Given the description of an element on the screen output the (x, y) to click on. 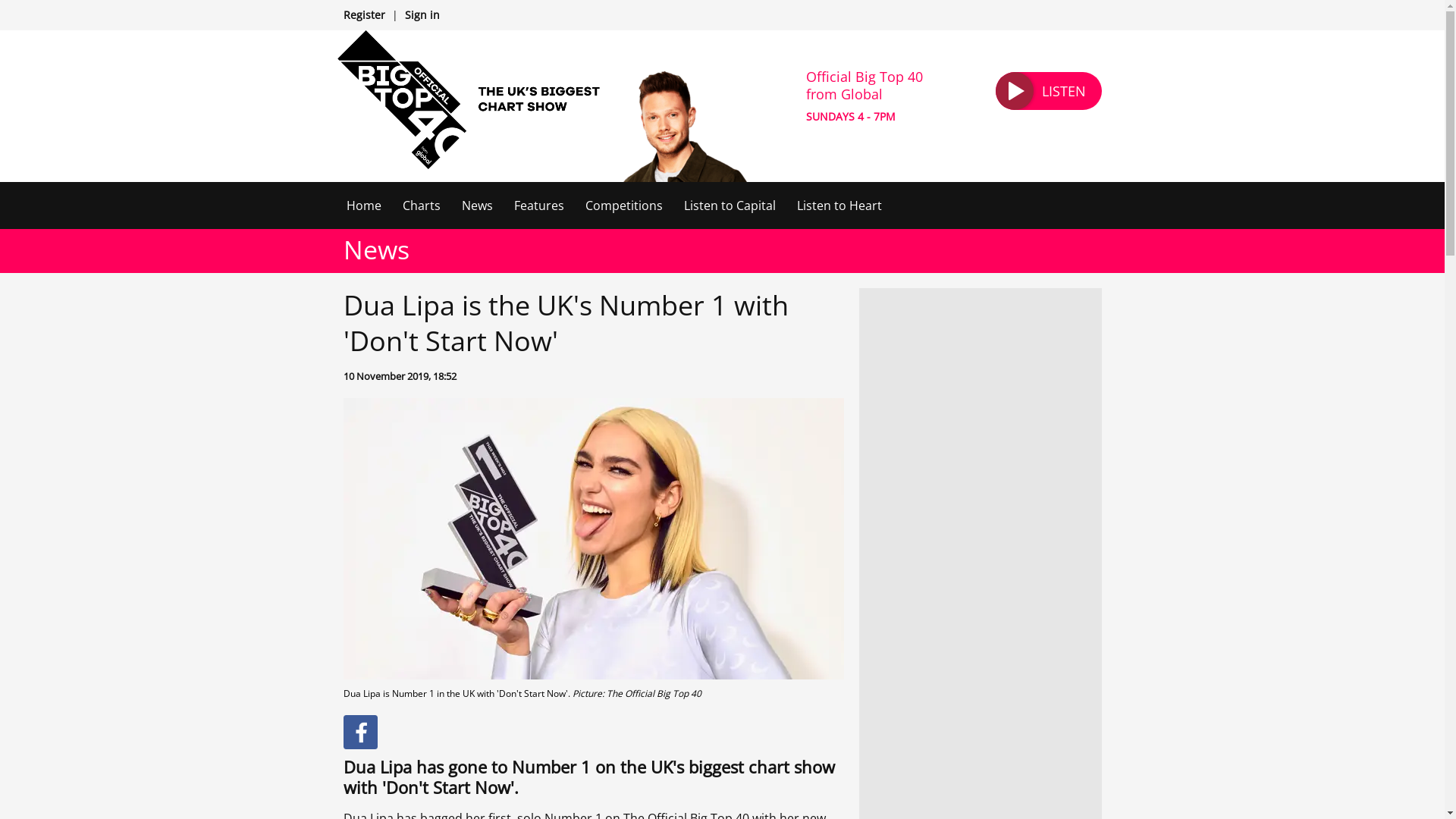
Home (362, 205)
Big Top 40 (466, 99)
LISTEN (1047, 90)
Charts (420, 205)
Features (539, 205)
Sign in (421, 14)
Competitions (623, 205)
Register (363, 14)
Listen to Capital (729, 205)
News (475, 205)
